Given the description of an element on the screen output the (x, y) to click on. 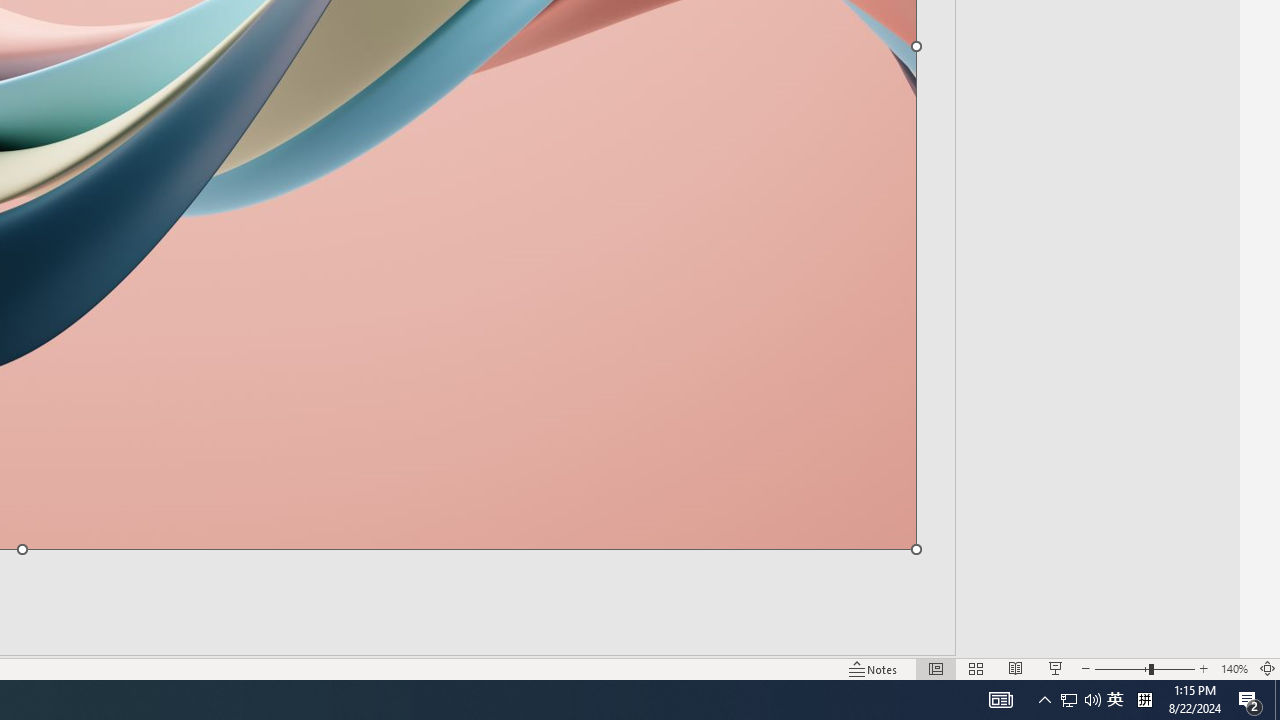
Notes  (874, 668)
Reading View (1015, 668)
Zoom (1144, 668)
Zoom In (1204, 668)
Zoom 140% (1234, 668)
Zoom Out (1121, 668)
Slide Show (1055, 668)
Zoom to Fit  (1267, 668)
Slide Sorter (975, 668)
Normal (936, 668)
